Given the description of an element on the screen output the (x, y) to click on. 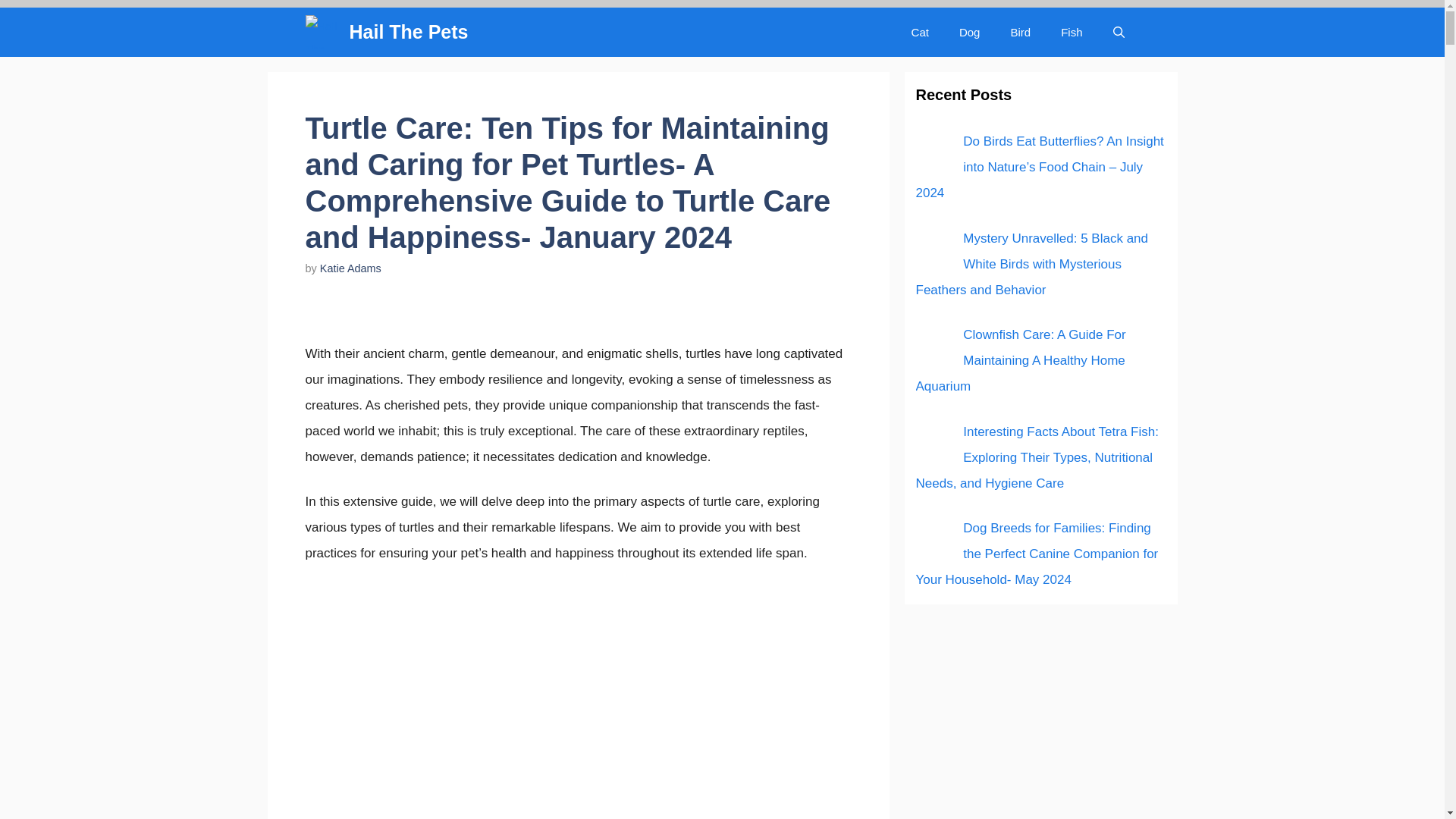
Bird (1019, 31)
Fish (1071, 31)
Hail The Pets (408, 31)
Katie Adams (350, 268)
Cat (919, 31)
Dog (969, 31)
View all posts by Katie Adams (350, 268)
